Given the description of an element on the screen output the (x, y) to click on. 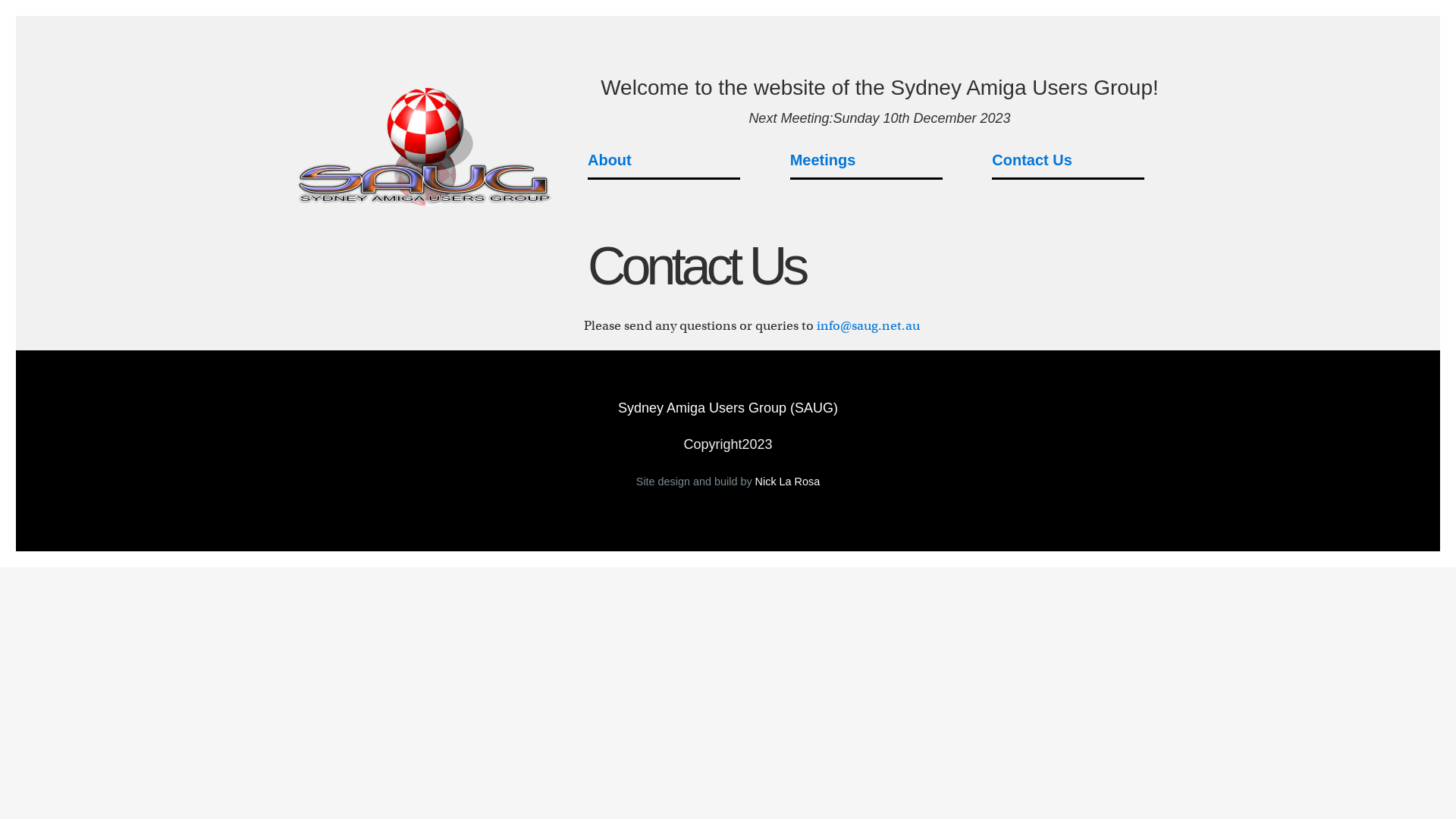
Contact Us Element type: text (1067, 160)
info@saug.net.au Element type: text (867, 325)
Sydney Amiga Users Group (SAUG) Element type: text (727, 407)
About Element type: text (663, 160)
Nick La Rosa Element type: text (787, 481)
Meetings Element type: text (866, 160)
